Given the description of an element on the screen output the (x, y) to click on. 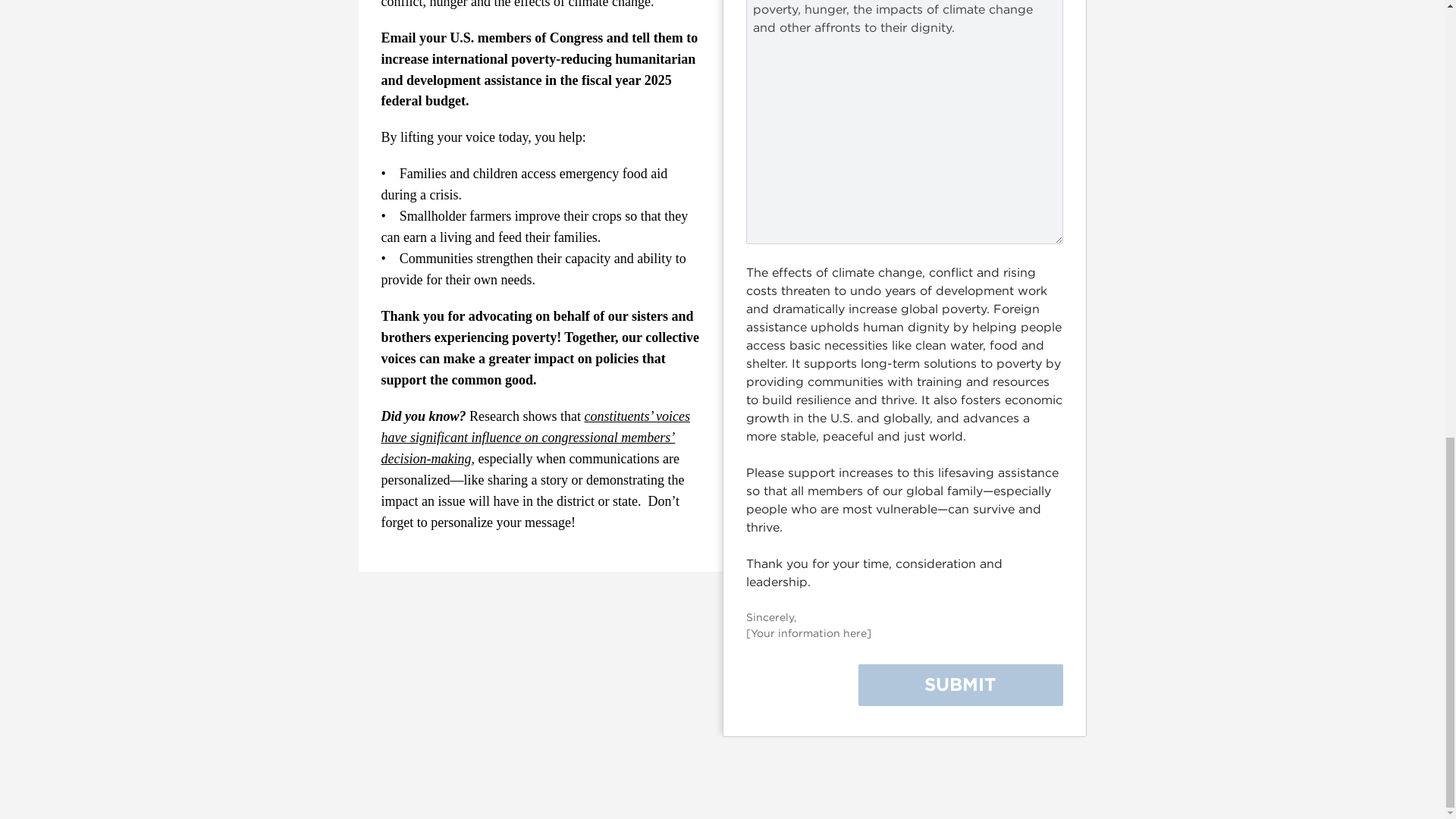
Submit (960, 684)
Submit (960, 684)
